Given the description of an element on the screen output the (x, y) to click on. 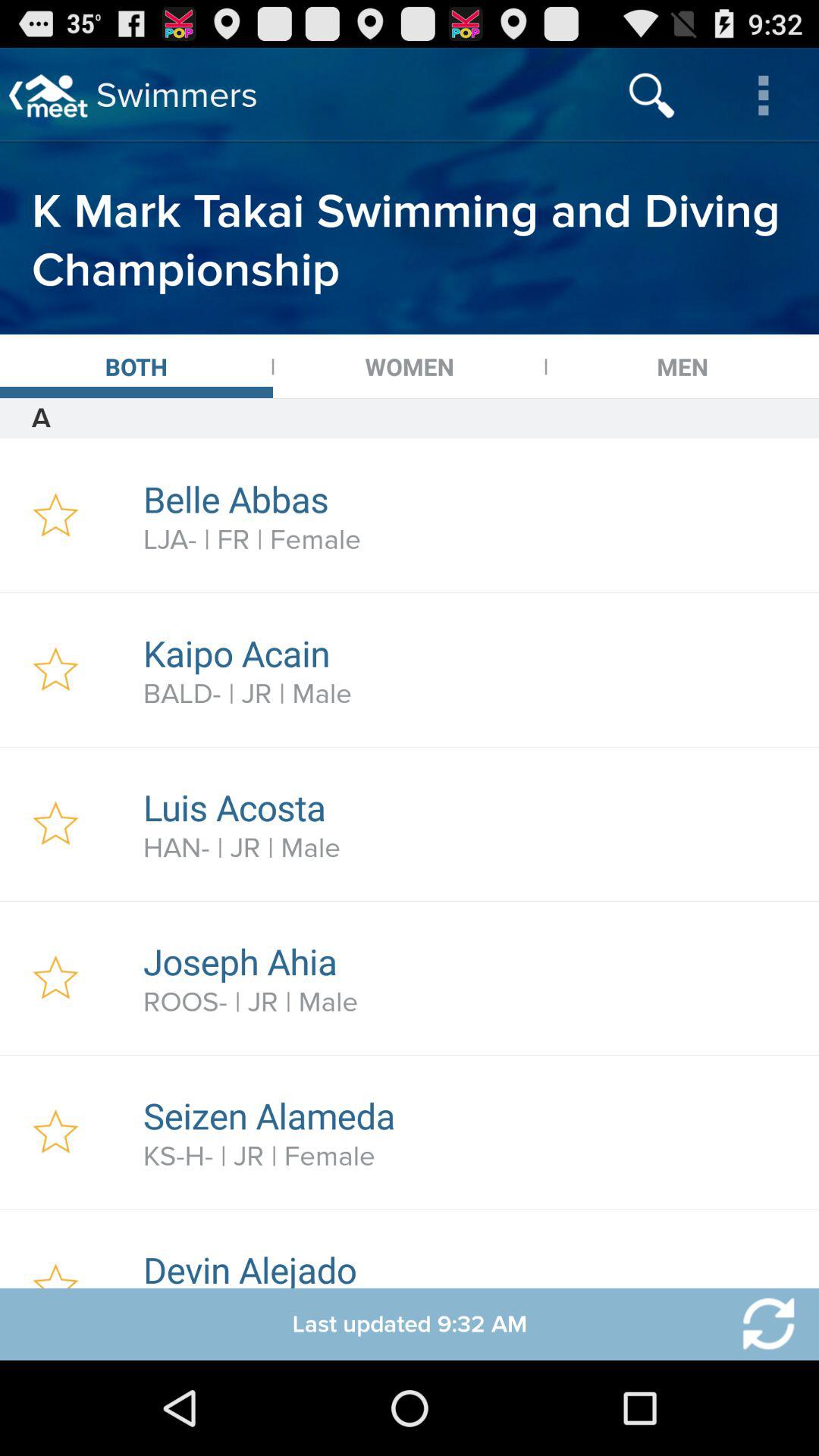
choose the icon below the roos- | jr | male item (473, 1115)
